Given the description of an element on the screen output the (x, y) to click on. 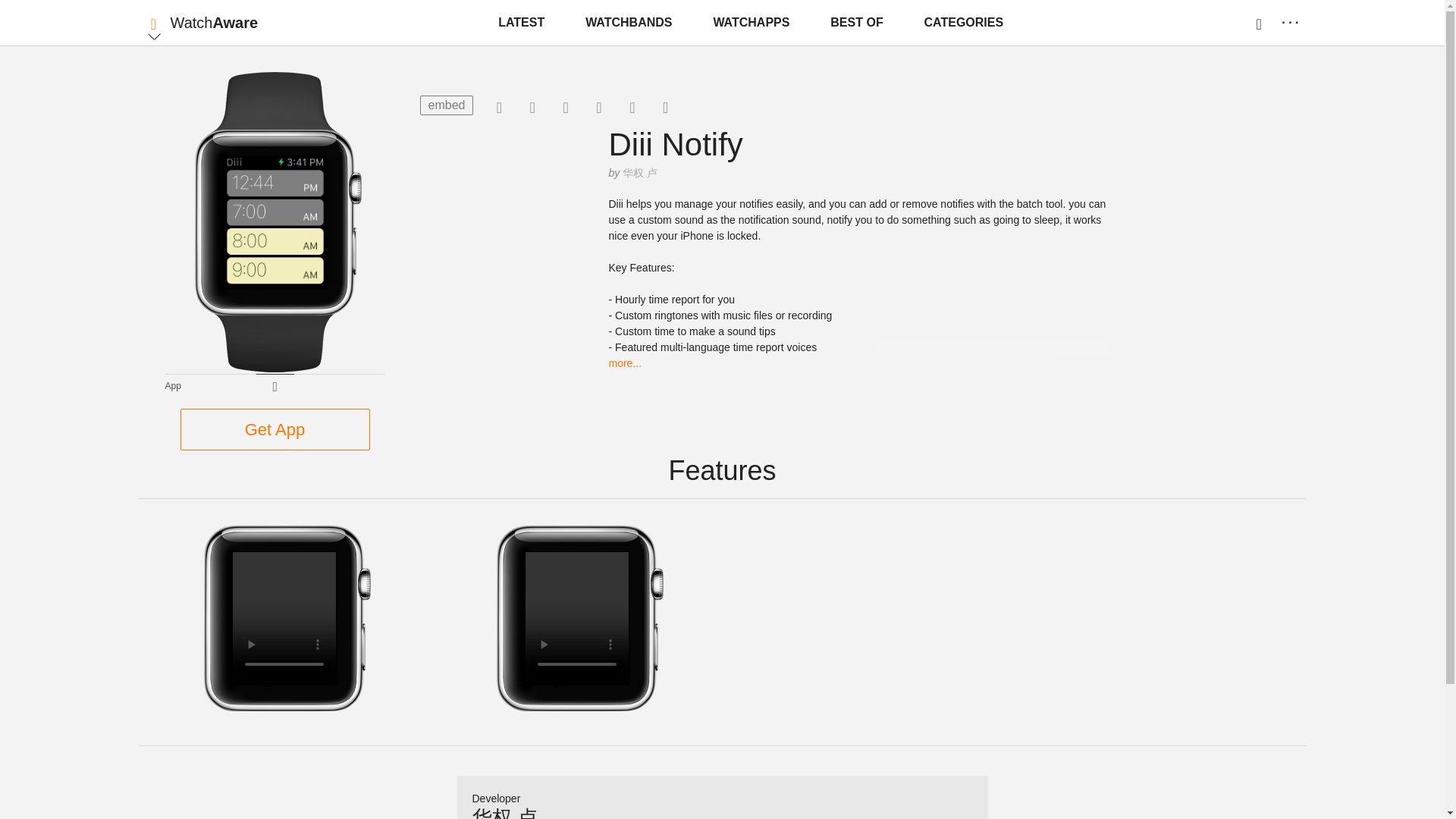
WATCHBANDS (628, 22)
WatchAware (213, 22)
CATEGORIES (964, 22)
LATEST (520, 22)
WATCHAPPS (751, 22)
embed (447, 105)
BEST OF (855, 22)
